Given the description of an element on the screen output the (x, y) to click on. 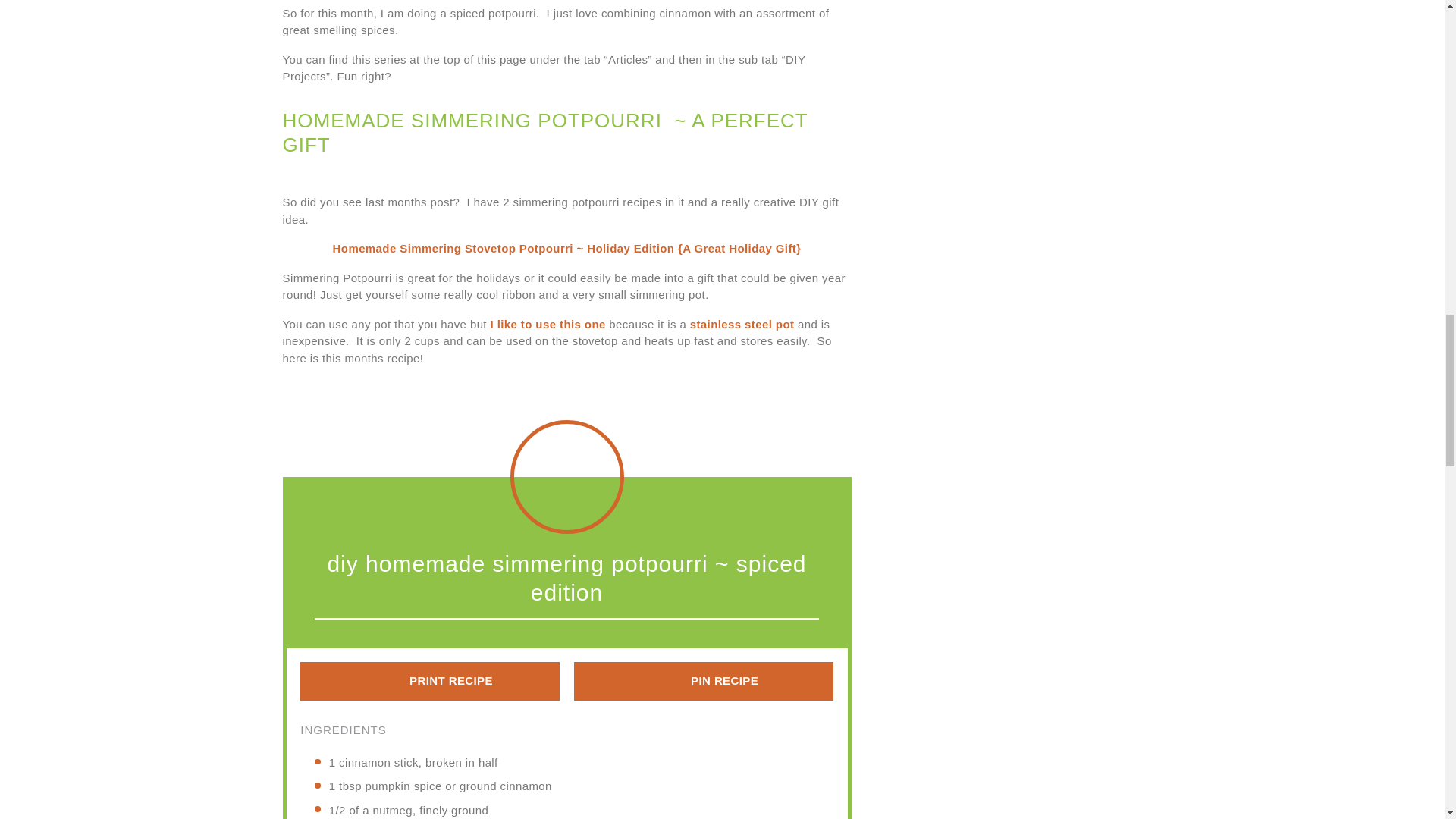
 I like to use this one (545, 323)
stainless steel pot (742, 323)
PRINT RECIPE (429, 681)
PIN RECIPE (702, 681)
